Given the description of an element on the screen output the (x, y) to click on. 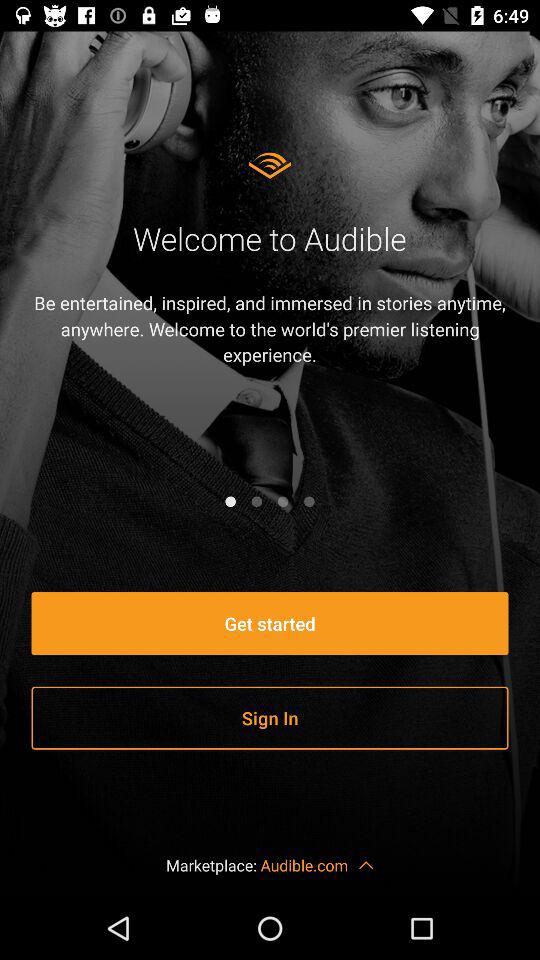
choose the icon below be entertained inspired (283, 501)
